Given the description of an element on the screen output the (x, y) to click on. 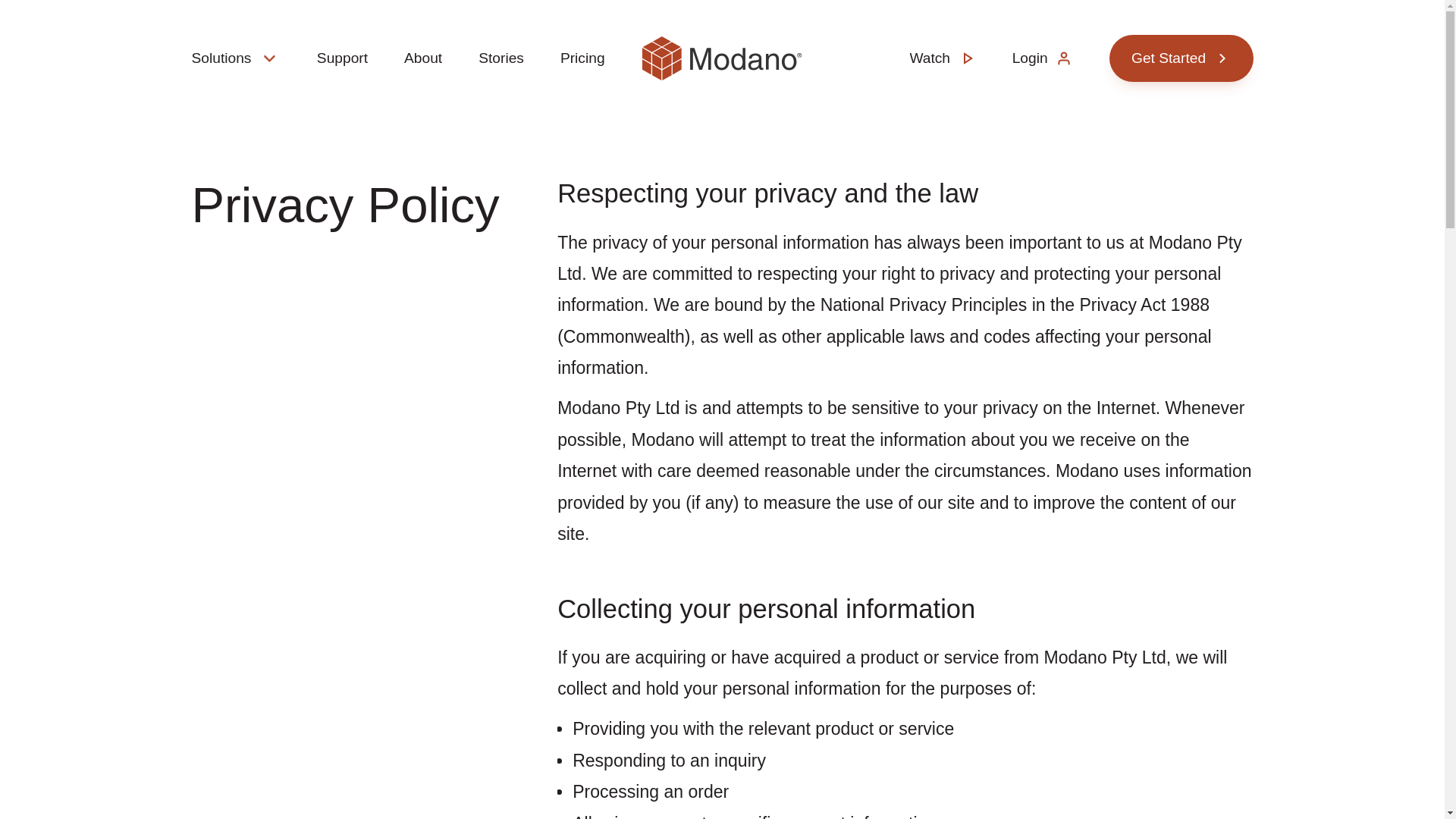
Support (342, 58)
Pricing (582, 58)
Get Started (1180, 58)
Solutions (220, 58)
About (423, 58)
Stories (501, 58)
Login (1042, 58)
Watch (941, 58)
